Given the description of an element on the screen output the (x, y) to click on. 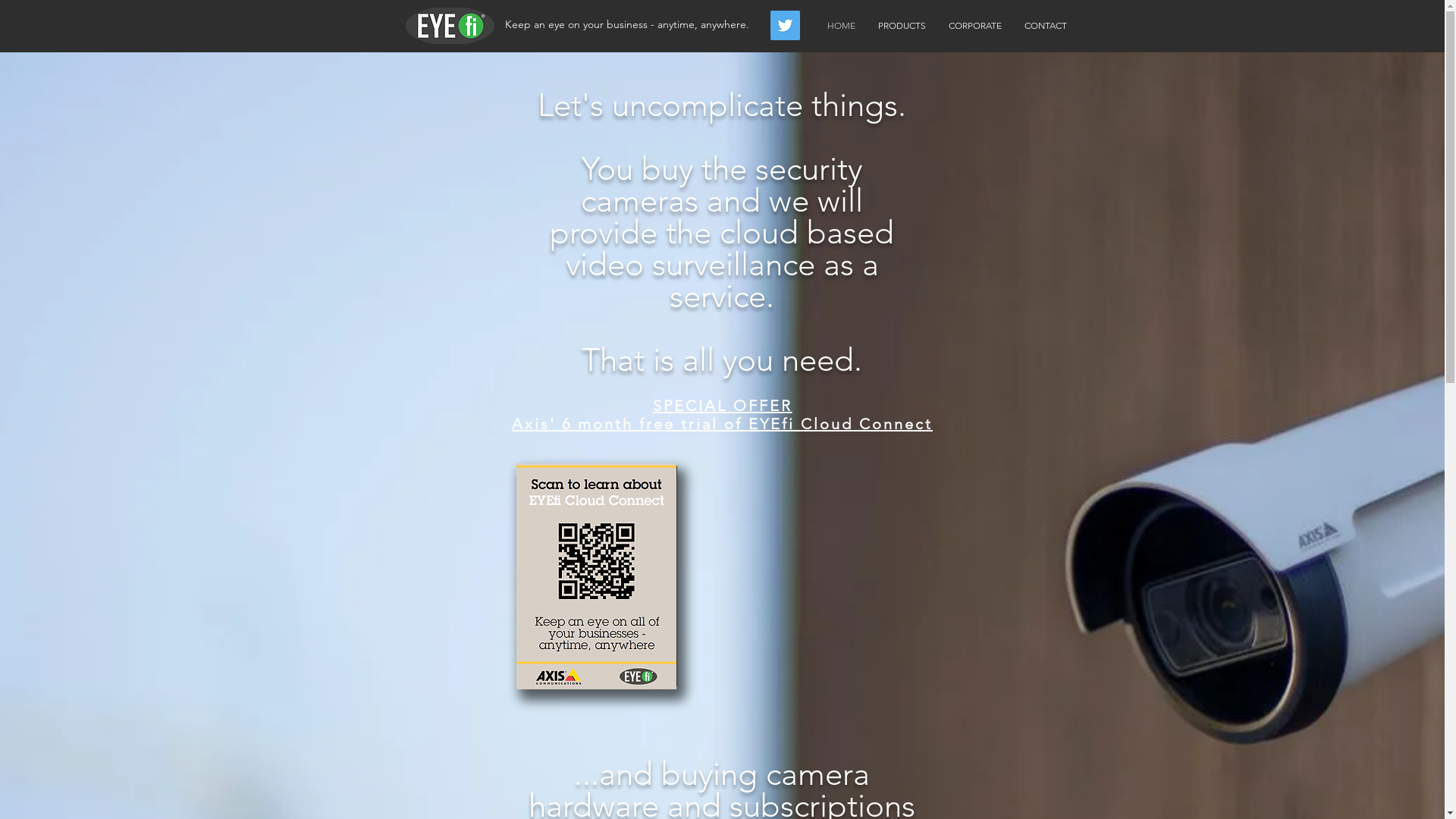
Axis' 6 month free trial of EYEfi Cloud Connect Element type: text (721, 423)
CONTACT Element type: text (1045, 25)
SPECIAL OFFER Element type: text (721, 405)
HOME Element type: text (840, 25)
